Given the description of an element on the screen output the (x, y) to click on. 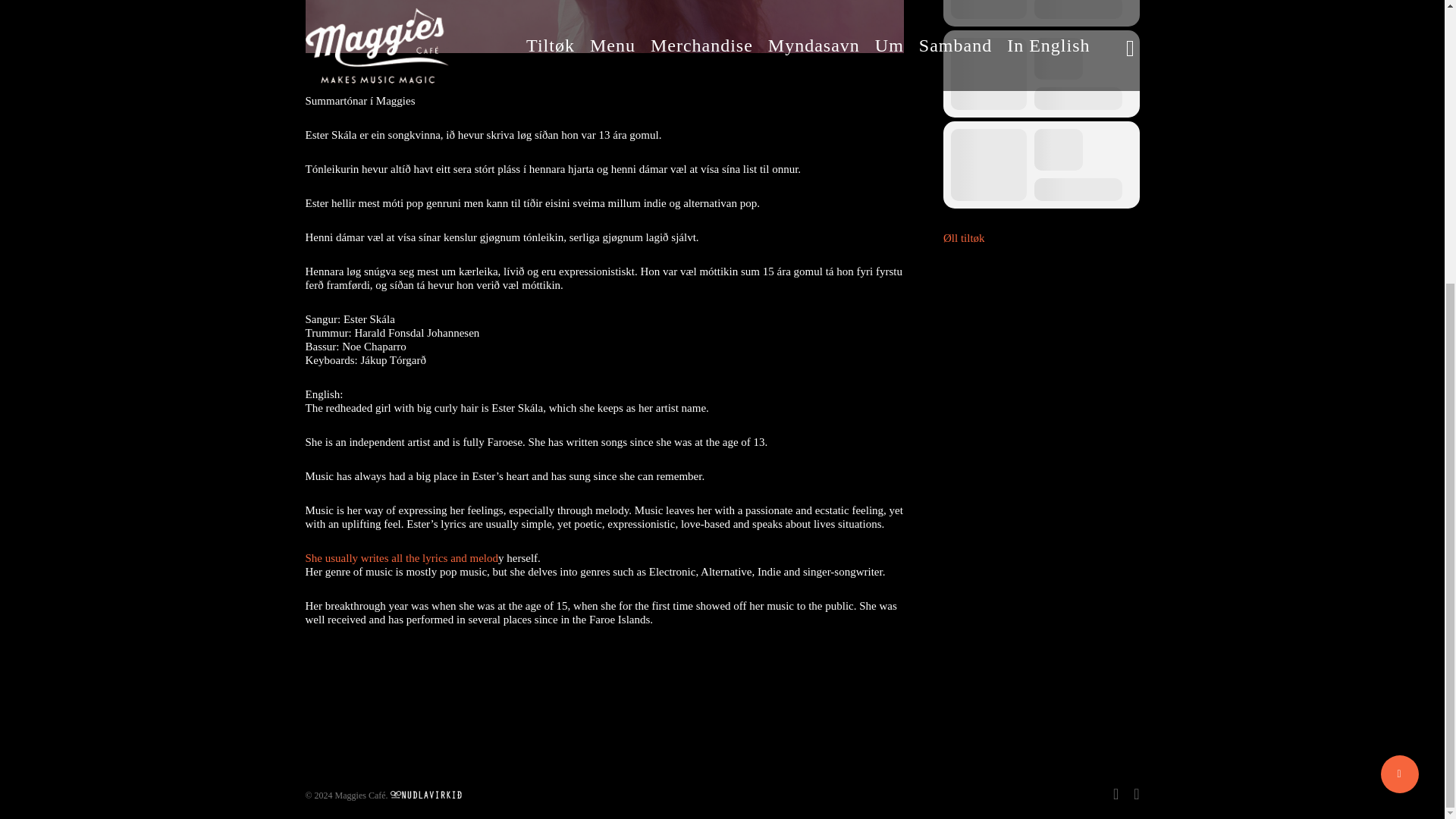
facebook (1115, 793)
She usually writes all the lyrics and melod (400, 558)
instagram (1136, 793)
